Given the description of an element on the screen output the (x, y) to click on. 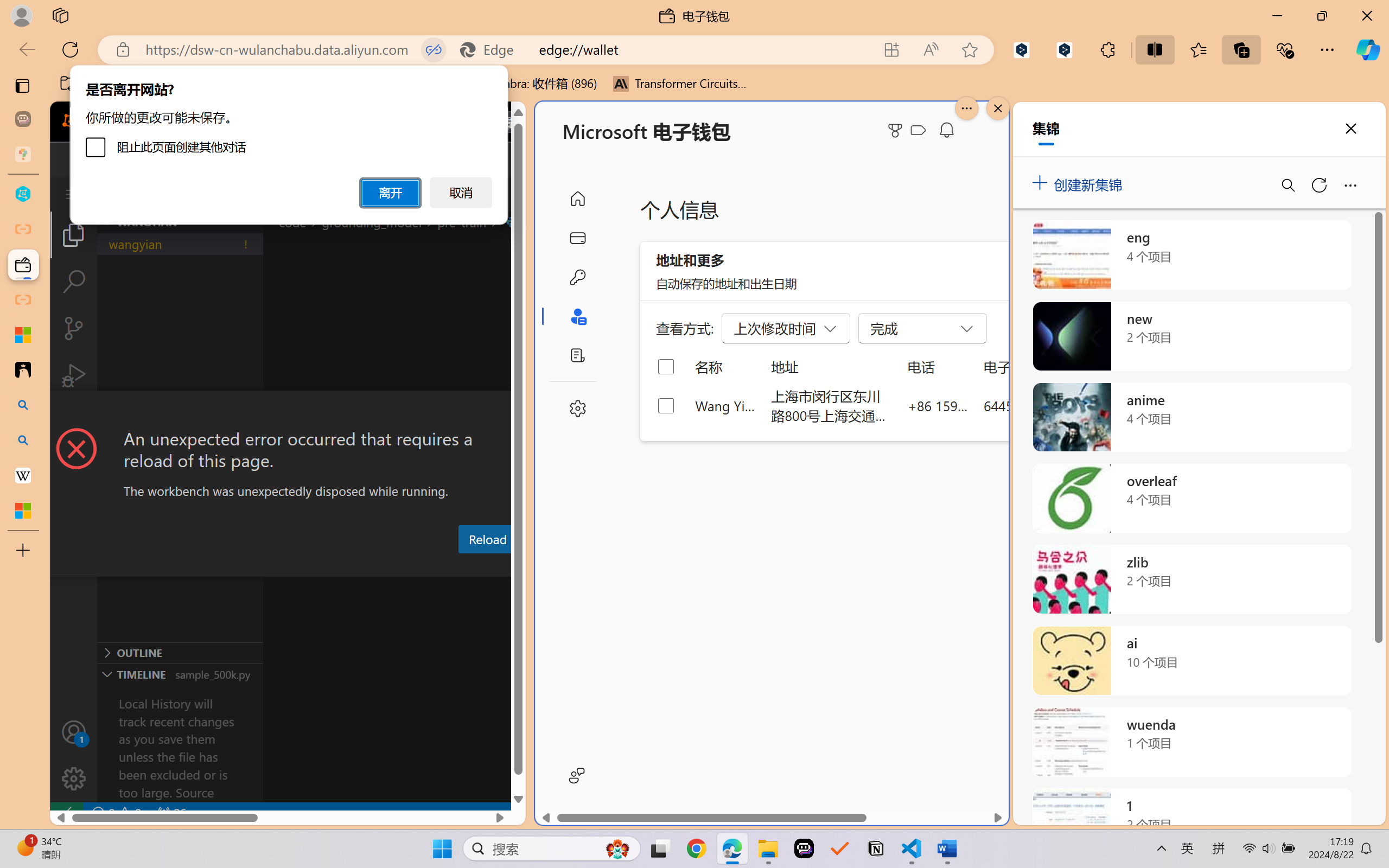
No Problems (115, 812)
Run and Debug (Ctrl+Shift+D) (73, 375)
